Given the description of an element on the screen output the (x, y) to click on. 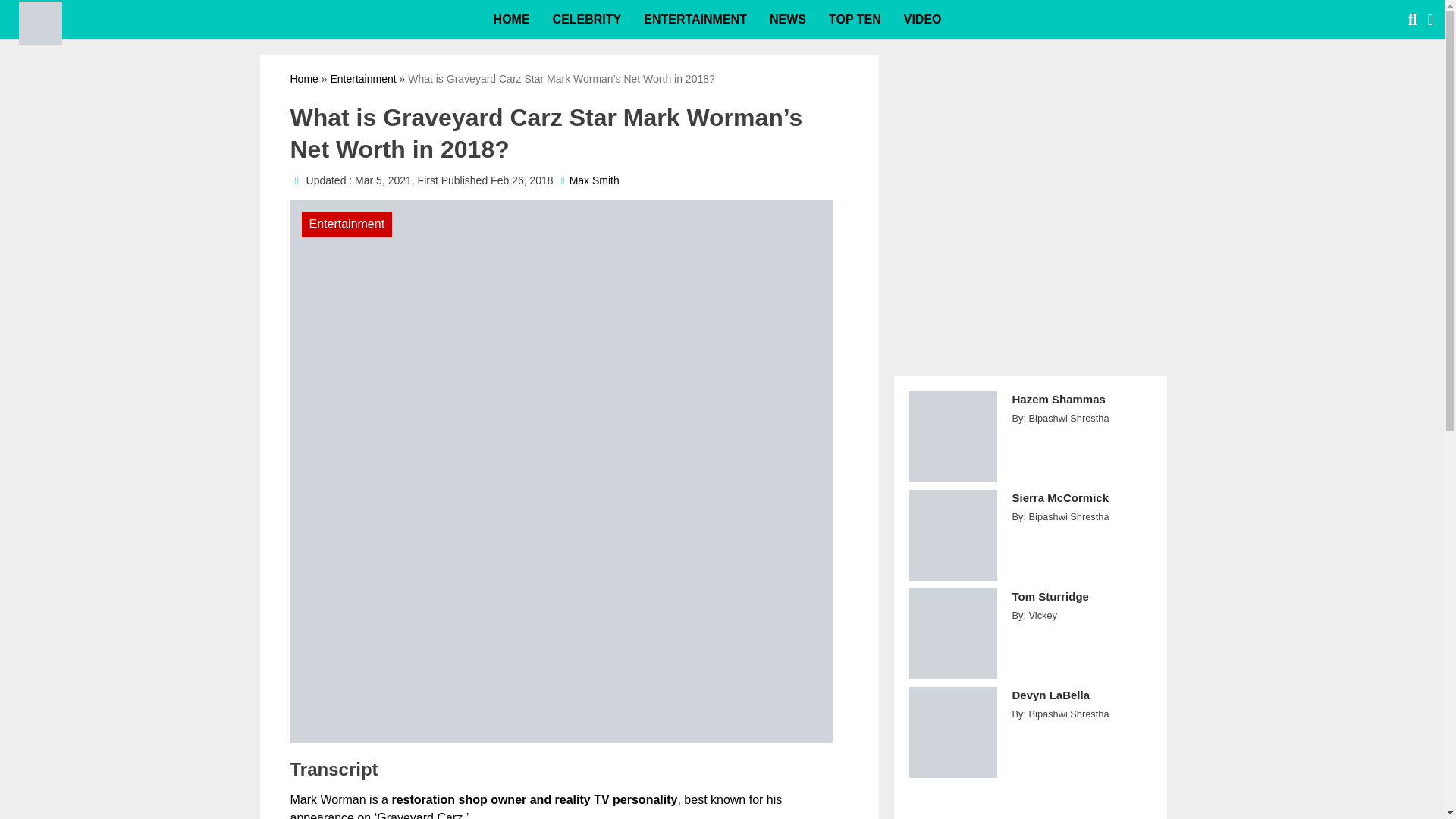
Sierra McCormick (1081, 505)
Home (303, 78)
ENTERTAINMENT (694, 19)
TOP TEN (854, 19)
HOME (511, 19)
NEWS (787, 19)
Hazem Shammas (1081, 407)
Devyn LaBella (1081, 703)
Tom Sturridge (1081, 604)
Max Smith (594, 180)
VIDEO (922, 19)
Max Smith (594, 180)
CELEBRITY (587, 19)
Entertainment (363, 78)
